Given the description of an element on the screen output the (x, y) to click on. 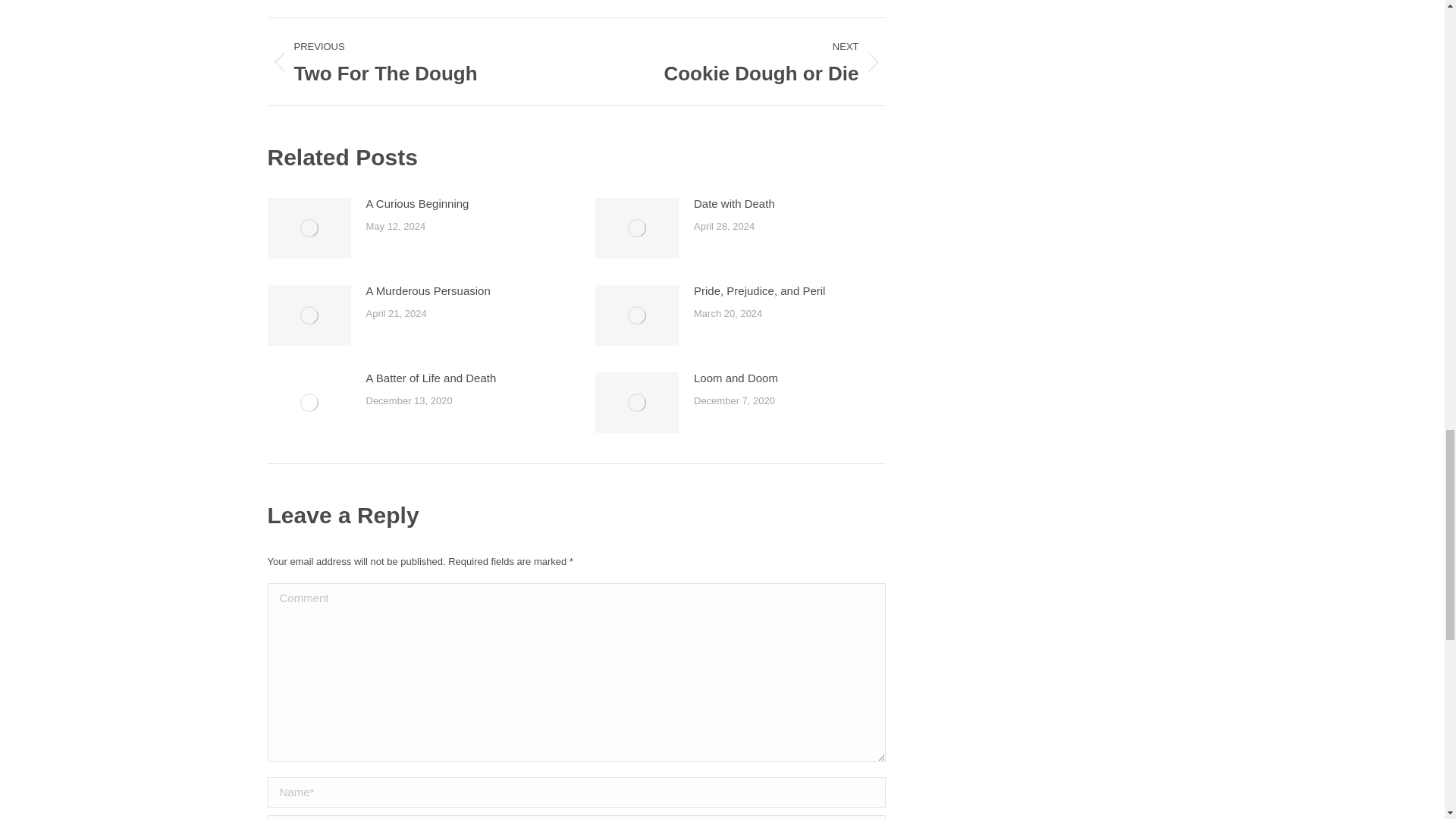
A Curious Beginning (741, 61)
